Given the description of an element on the screen output the (x, y) to click on. 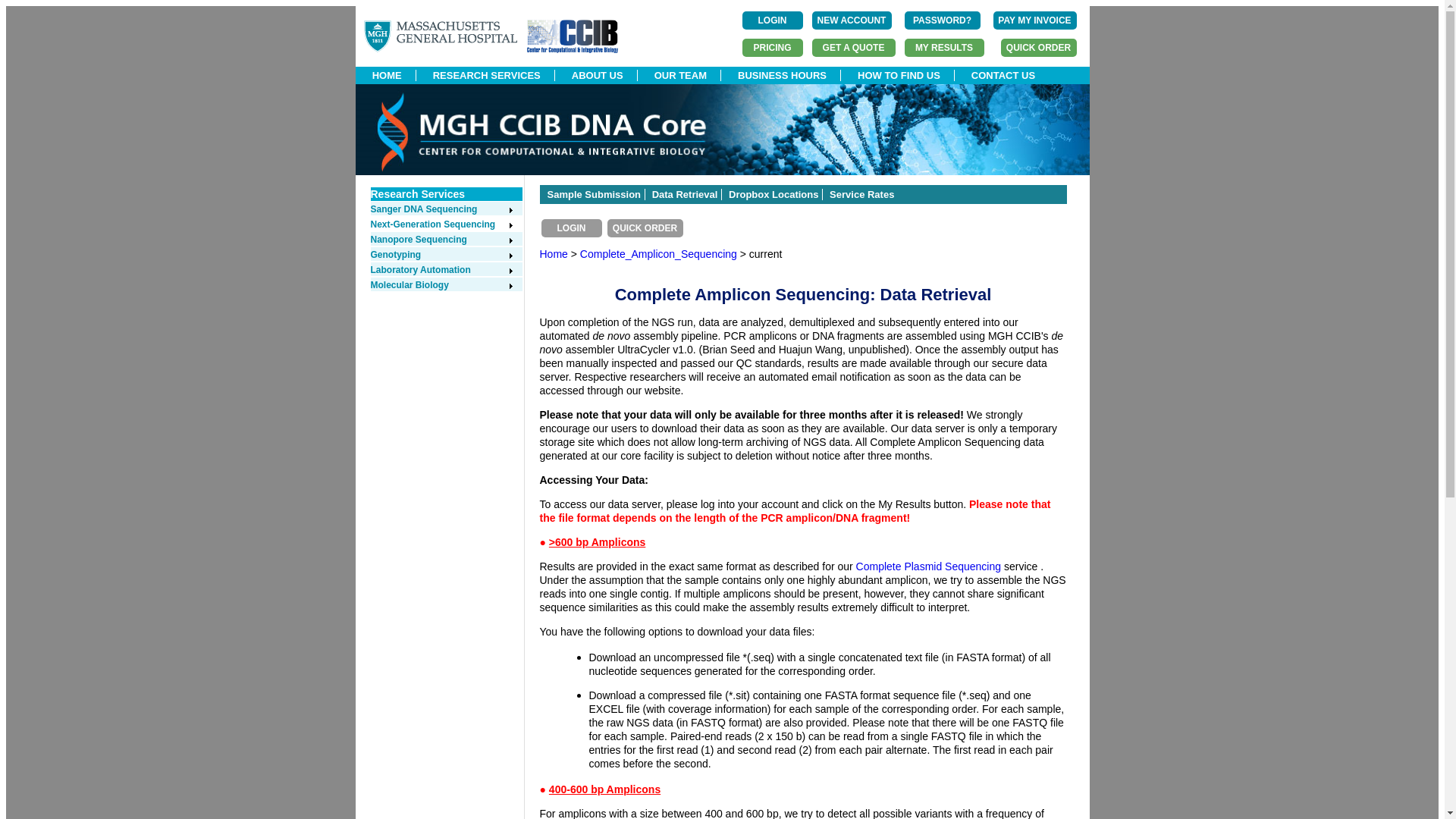
CONTACT US (1003, 75)
PAY MY INVOICE (1034, 20)
QUICK ORDER (1039, 47)
QUICK ORDER (1039, 47)
OUR TEAM (680, 75)
GET A QUOTE (852, 47)
Next-Generation Sequencing (441, 224)
PASSWORD? (941, 20)
GET A QUOTE (852, 47)
ABOUT US (597, 75)
PAY MY INVOICE (1034, 20)
PRICING (771, 47)
MY RESULTS (944, 47)
HOME (386, 75)
NEW ACCOUNT (850, 20)
